Given the description of an element on the screen output the (x, y) to click on. 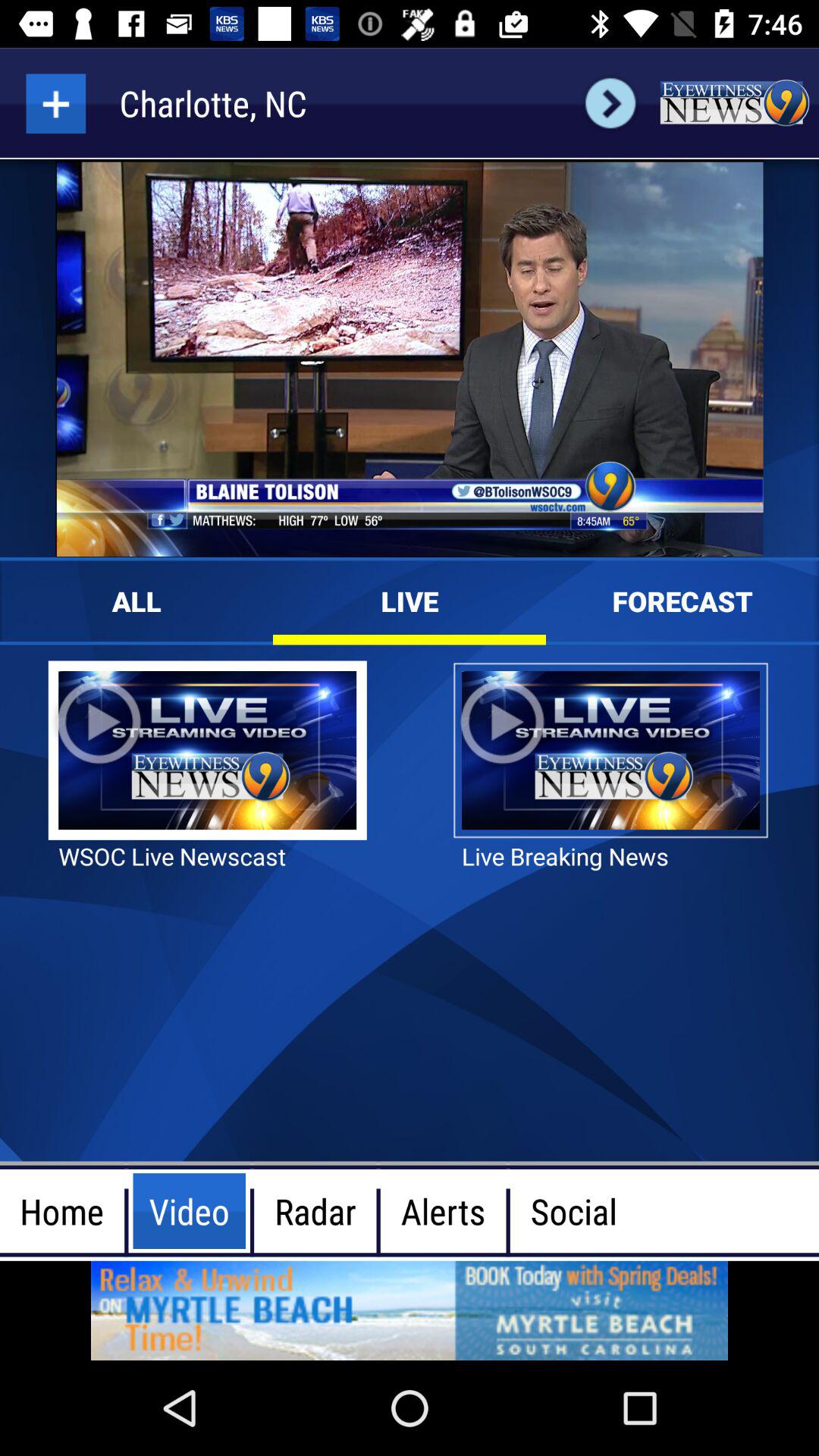
select add to feature (55, 103)
